Given the description of an element on the screen output the (x, y) to click on. 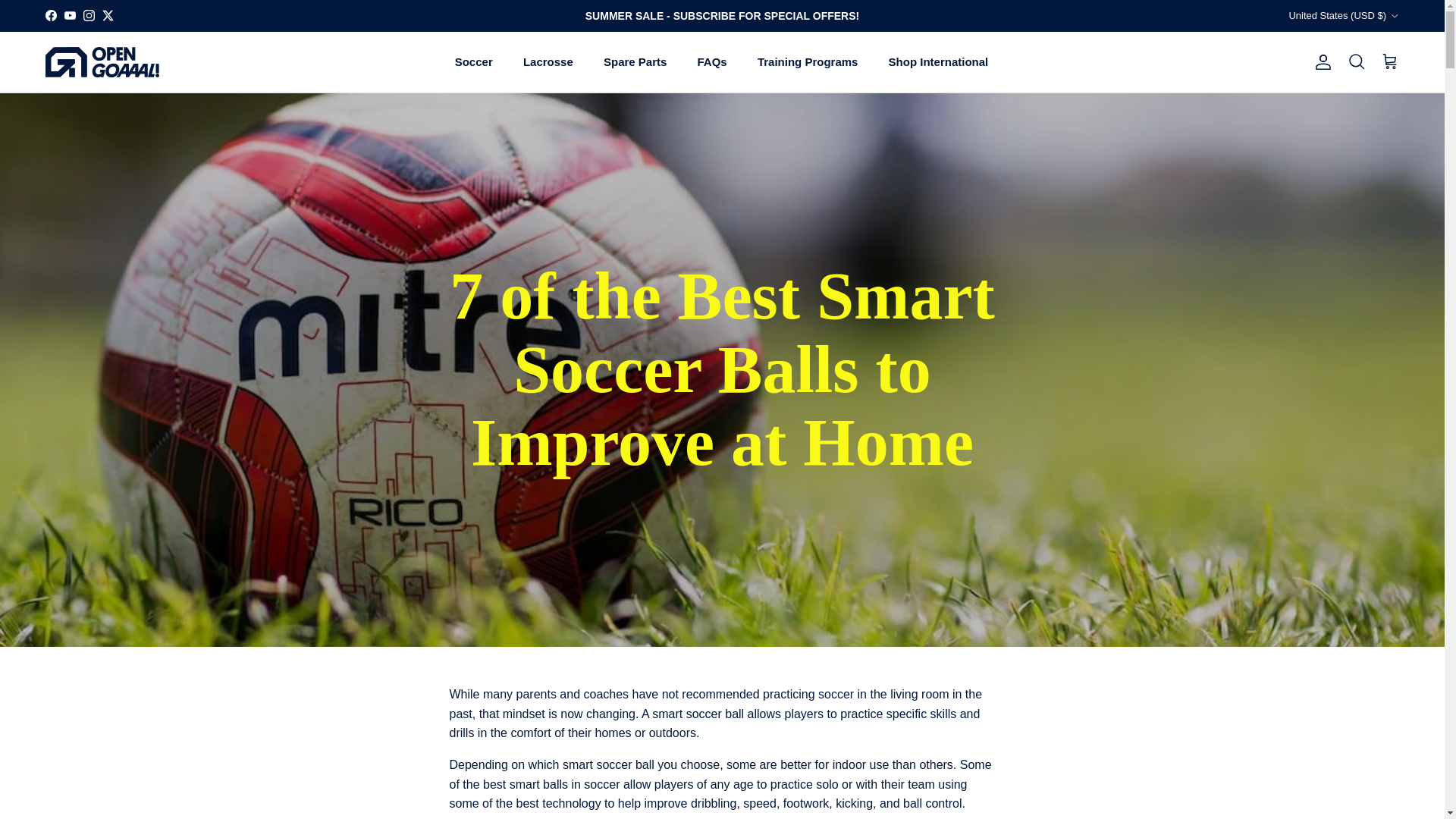
Training Programs (808, 61)
YouTube (69, 15)
Lacrosse (547, 61)
Soccer (473, 61)
Open Goaaal USA on Facebook (50, 15)
Instagram (88, 15)
Open Goaaal USA on Twitter (107, 15)
Shop International (939, 61)
Cart (1389, 62)
FAQs (712, 61)
Open Goaaal USA on YouTube (69, 15)
Facebook (50, 15)
Twitter (107, 15)
Search (1356, 62)
Open Goaaal USA on Instagram (88, 15)
